Given the description of an element on the screen output the (x, y) to click on. 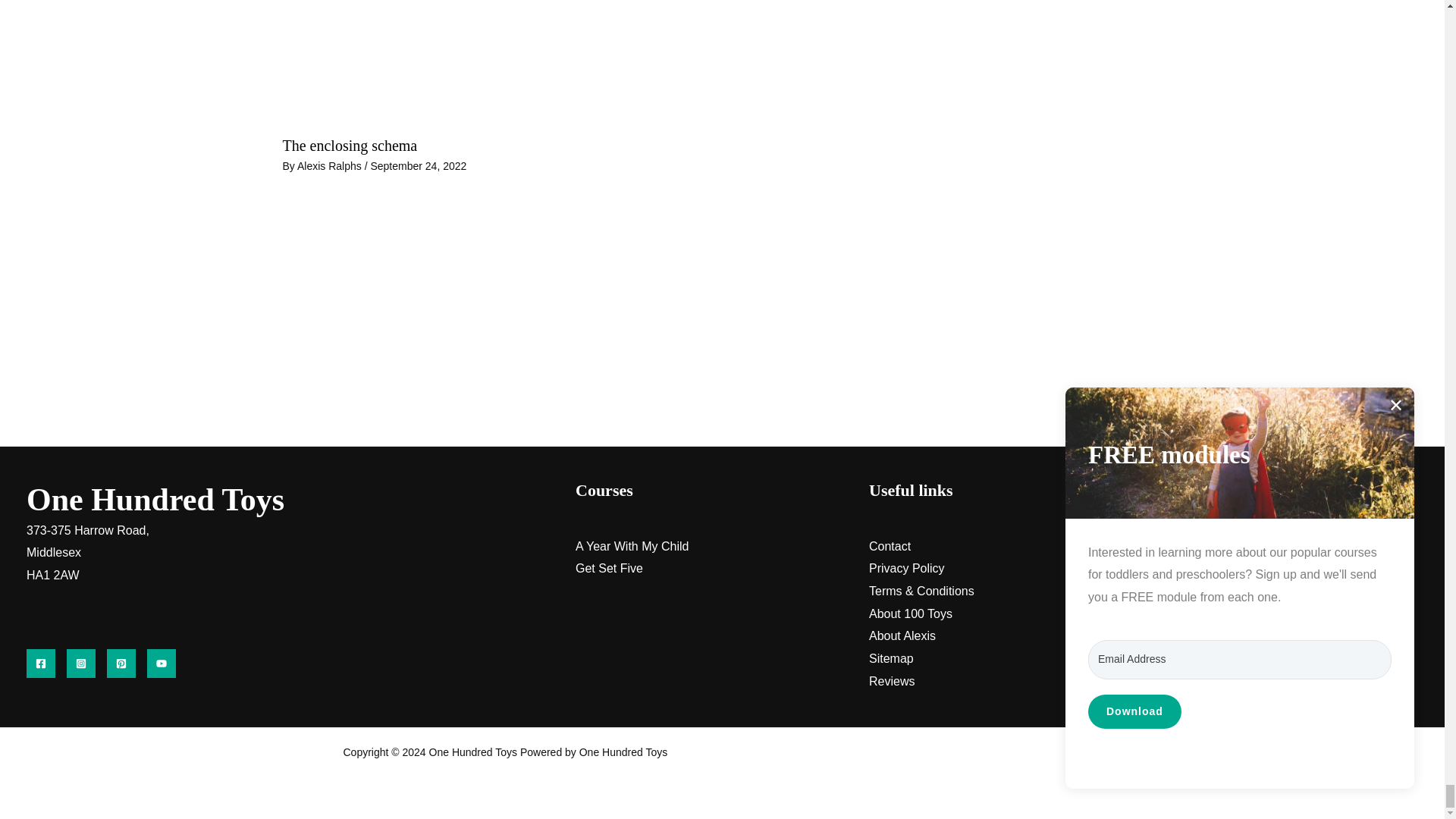
View all posts by Alexis Ralphs (331, 165)
